Given the description of an element on the screen output the (x, y) to click on. 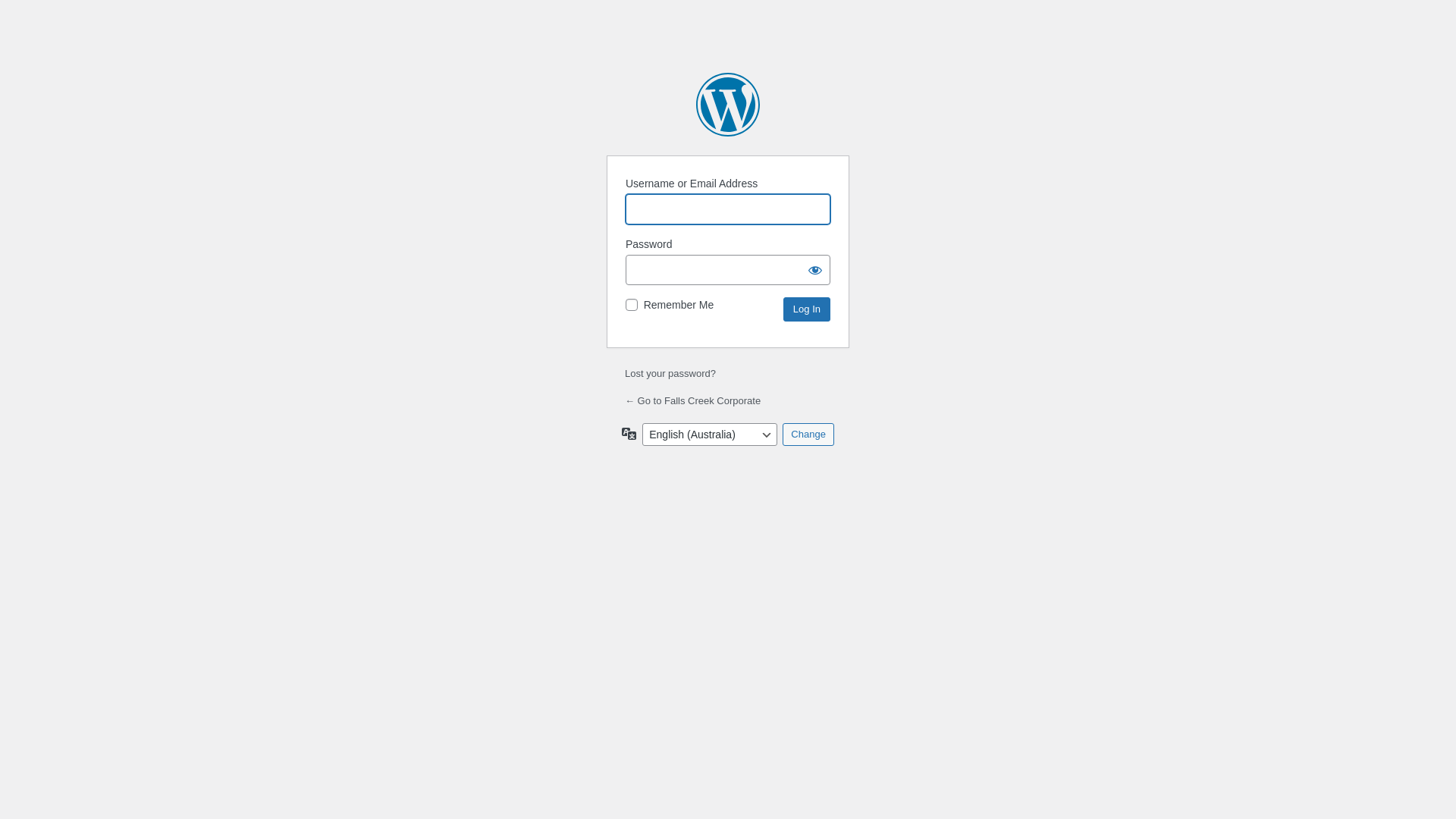
Change Element type: text (808, 434)
Lost your password? Element type: text (669, 373)
Log In Element type: text (806, 309)
Powered by WordPress Element type: text (727, 104)
